Given the description of an element on the screen output the (x, y) to click on. 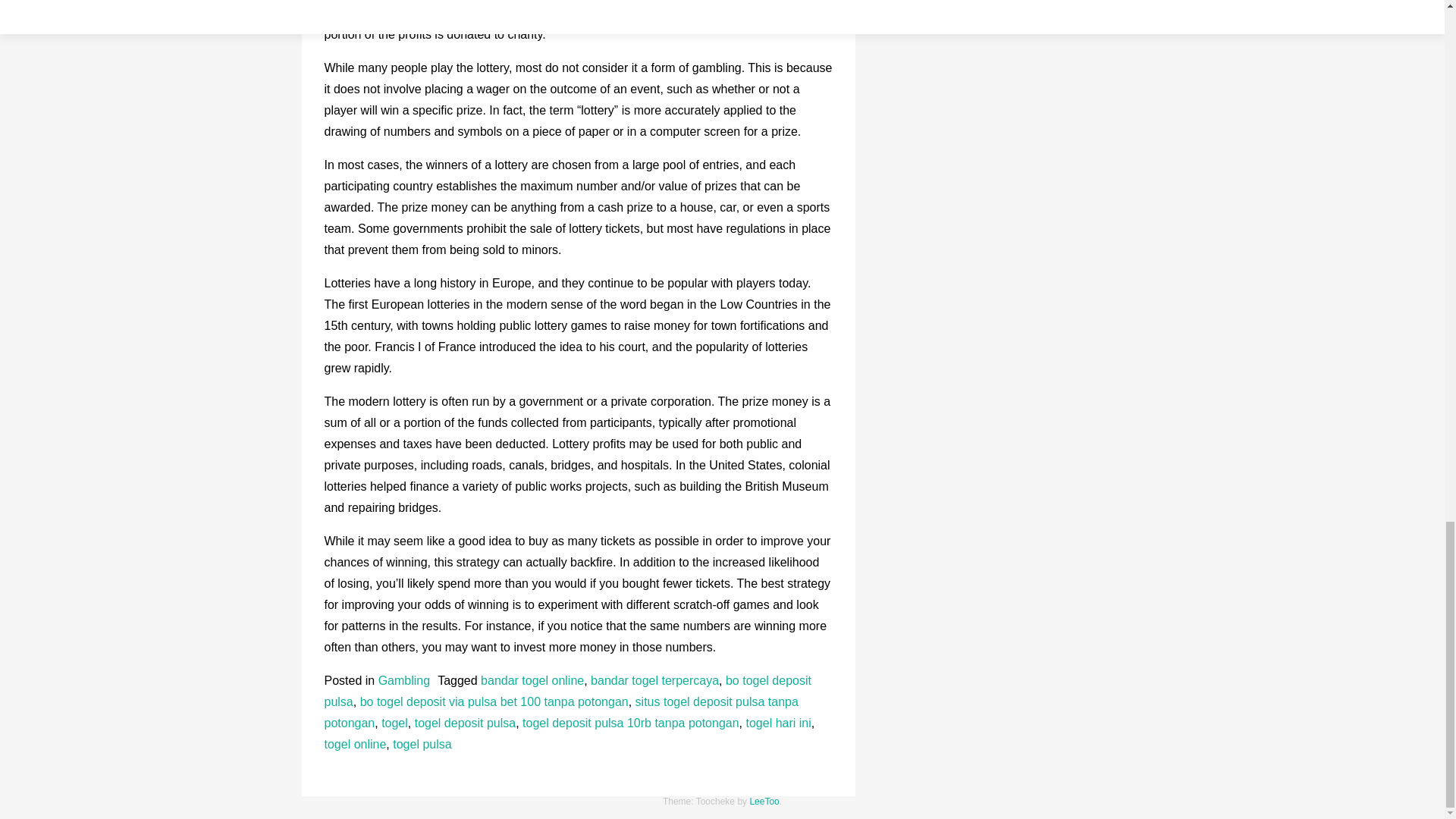
bo togel deposit pulsa (567, 691)
bandar togel terpercaya (655, 680)
situs togel deposit pulsa tanpa potongan (560, 712)
togel deposit pulsa (464, 722)
bandar togel online (531, 680)
togel pulsa (422, 744)
togel (394, 722)
togel hari ini (777, 722)
bo togel deposit via pulsa bet 100 tanpa potongan (493, 701)
togel deposit pulsa 10rb tanpa potongan (630, 722)
Gambling (403, 680)
togel online (355, 744)
